Given the description of an element on the screen output the (x, y) to click on. 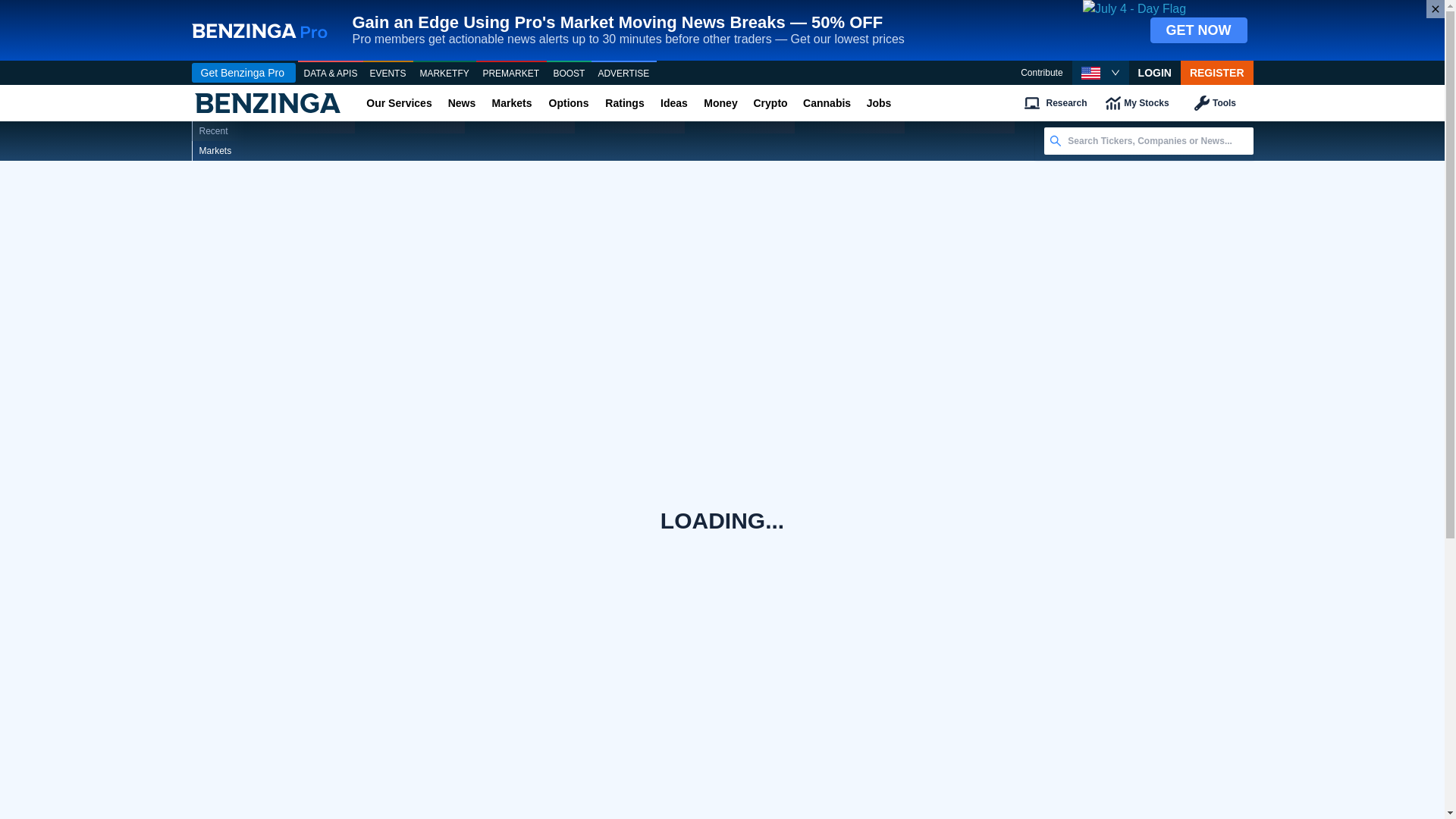
REGISTER (1216, 72)
Contribute (1041, 72)
Our Services (398, 103)
Markets (511, 103)
ADVERTISE (623, 73)
MARKETFY (444, 73)
LOGIN (1154, 72)
USA (1090, 72)
GET NOW (1198, 30)
Our Services (398, 103)
